Given the description of an element on the screen output the (x, y) to click on. 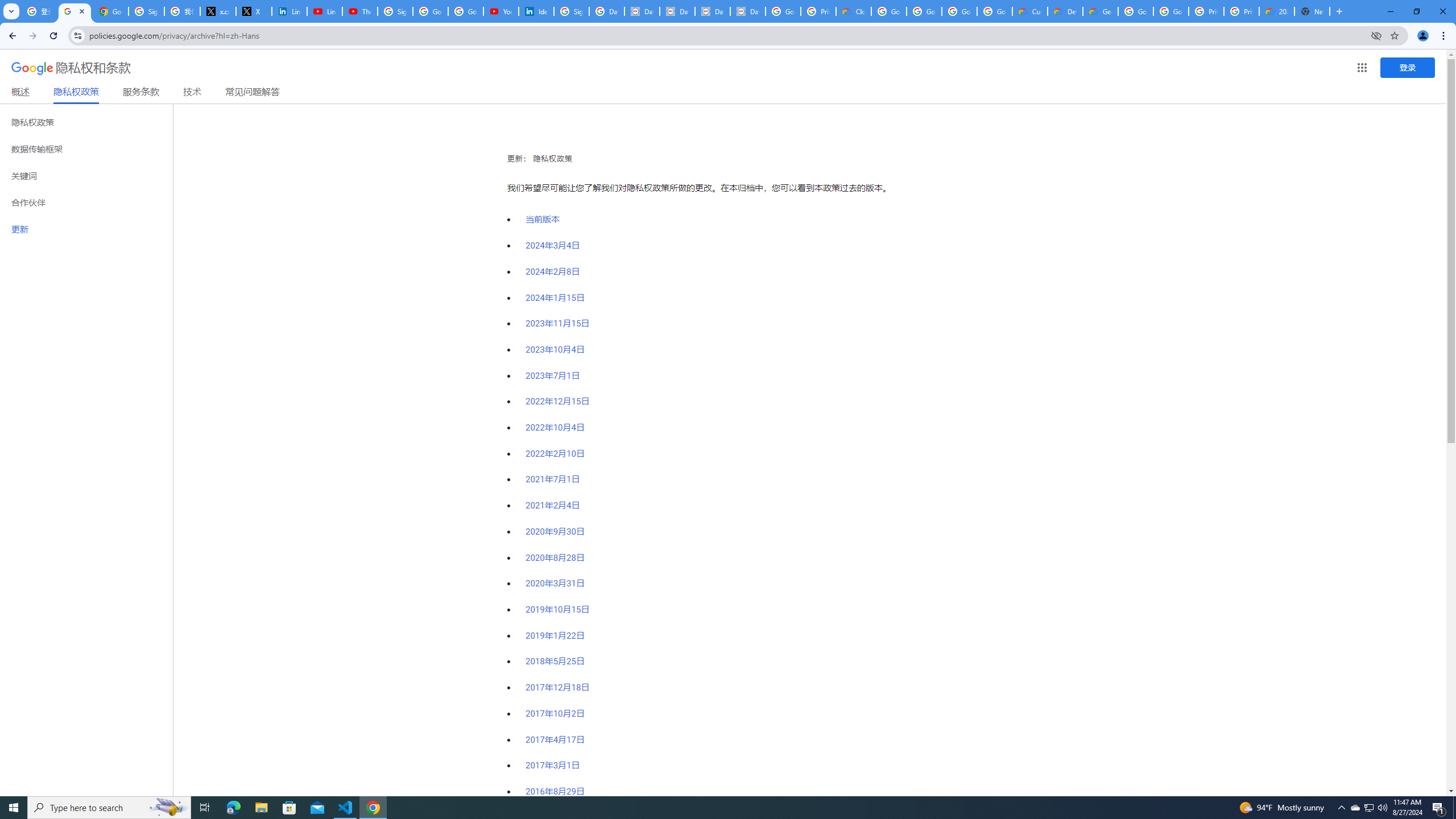
Data Privacy Framework (747, 11)
Sign in - Google Accounts (145, 11)
Gemini for Business and Developers | Google Cloud (1099, 11)
LinkedIn Privacy Policy (288, 11)
Data Privacy Framework (677, 11)
